Given the description of an element on the screen output the (x, y) to click on. 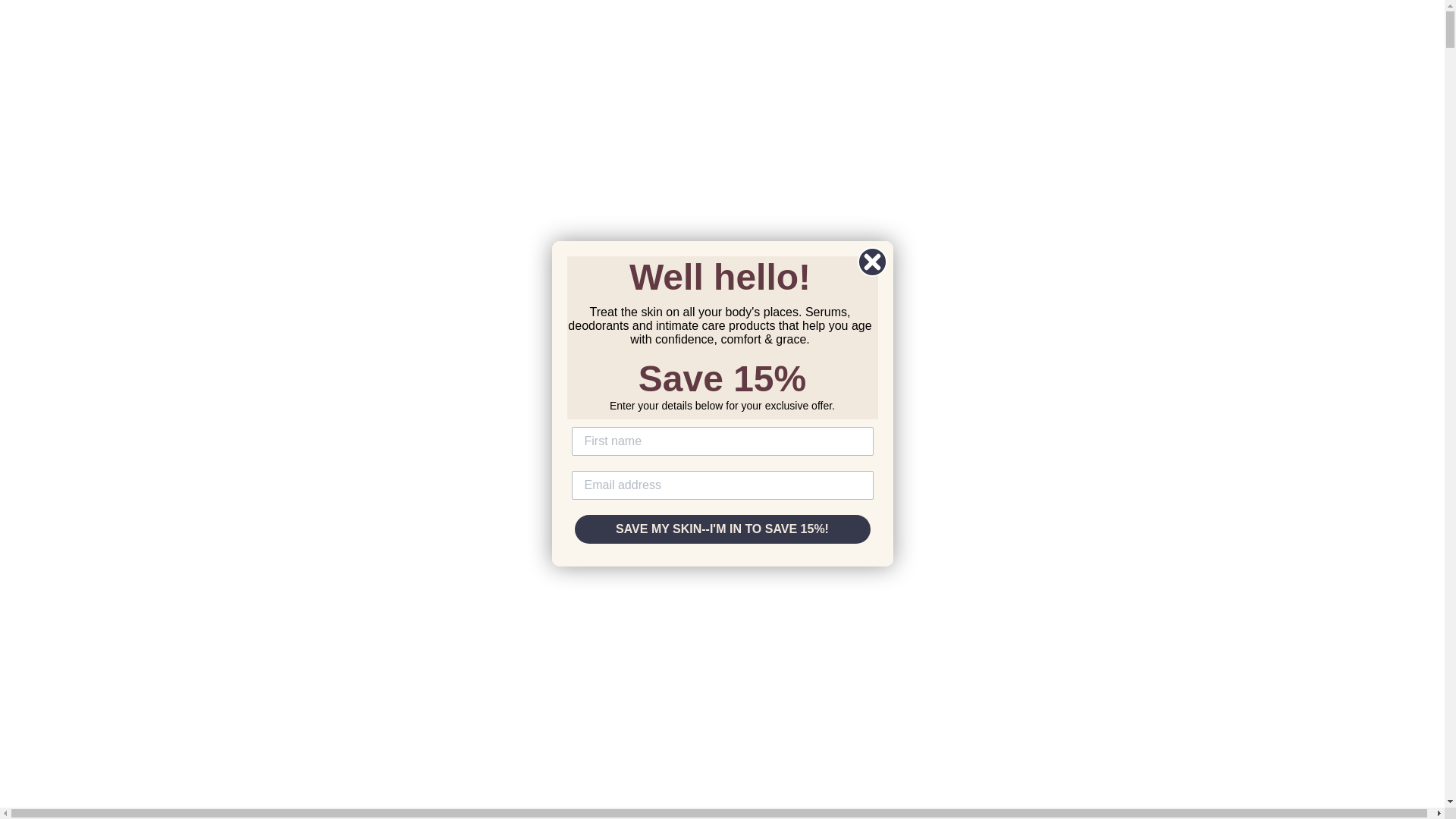
Deodorant (94, 599)
Affiliate Program (114, 268)
Apothekari Skincare (61, 20)
SHOP (53, 189)
Face Care (93, 300)
Serums (86, 332)
Apothekari Skincare (61, 20)
Top Sellers (66, 221)
Eyes (79, 284)
Body Care (95, 567)
Intimate Moisturizer (122, 253)
FAQs (82, 284)
Best Sellers (99, 551)
Close dialog 4 (871, 261)
